Given the description of an element on the screen output the (x, y) to click on. 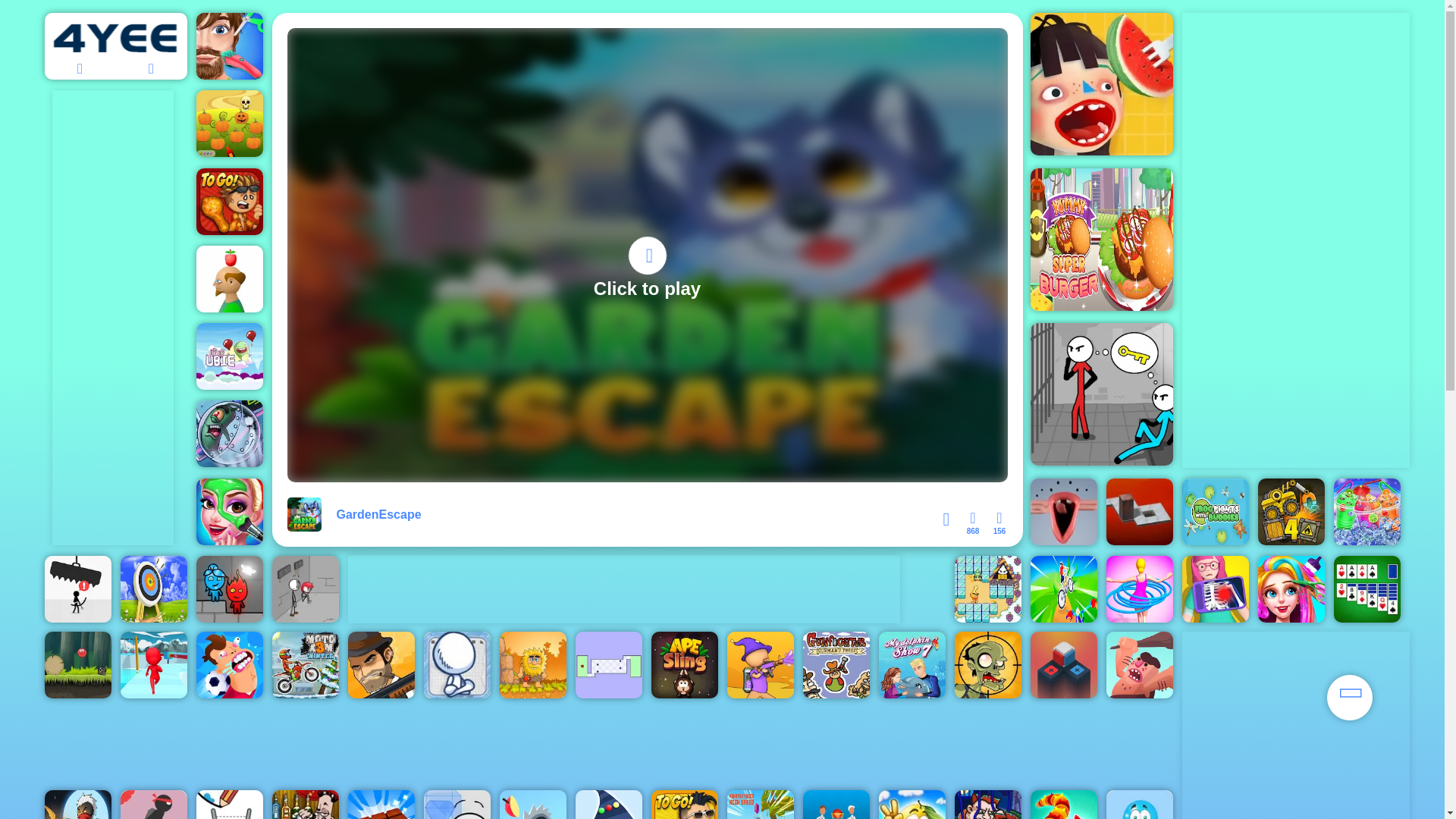
Bloxorz (1138, 511)
Papa's Wingeria (228, 201)
Advertisement (111, 317)
Like (973, 523)
Yummy Super Burger (1100, 239)
Mental Hospital Escape (1100, 394)
Advertisement (1294, 240)
Choir (1062, 511)
Advertisement (623, 589)
Up Up Ubie Remix (228, 355)
Funny Hair Salon (228, 46)
Dislike (998, 523)
Plankton's Patty Plunder (228, 433)
Fullscreen (946, 519)
